Given the description of an element on the screen output the (x, y) to click on. 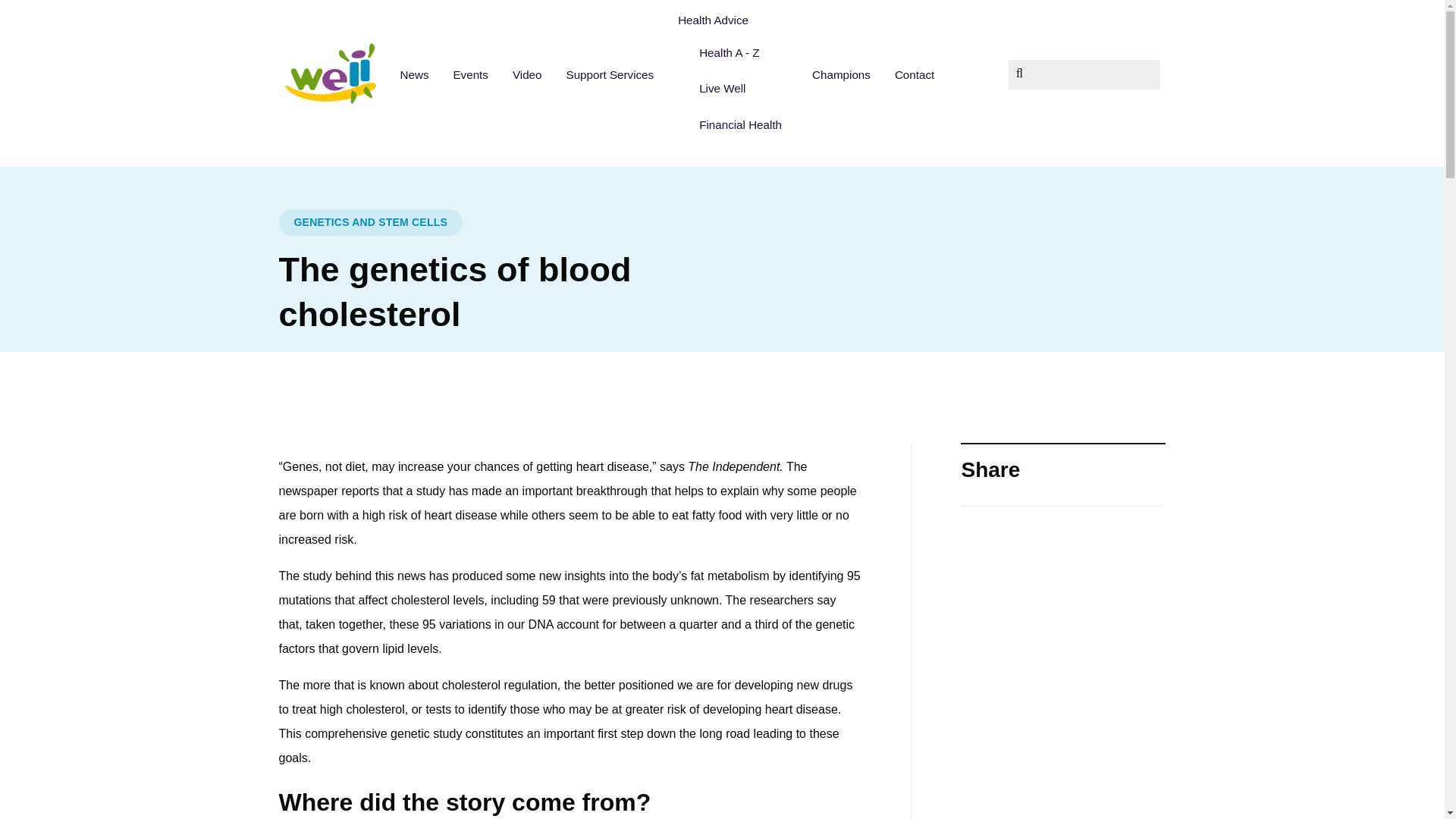
Health Advice (732, 20)
Events (470, 73)
Video (527, 73)
Champions (840, 73)
Financial Health (740, 124)
Contact (914, 73)
News (414, 73)
Support Services (609, 73)
Live Well (740, 88)
Health A - Z (740, 52)
